Given the description of an element on the screen output the (x, y) to click on. 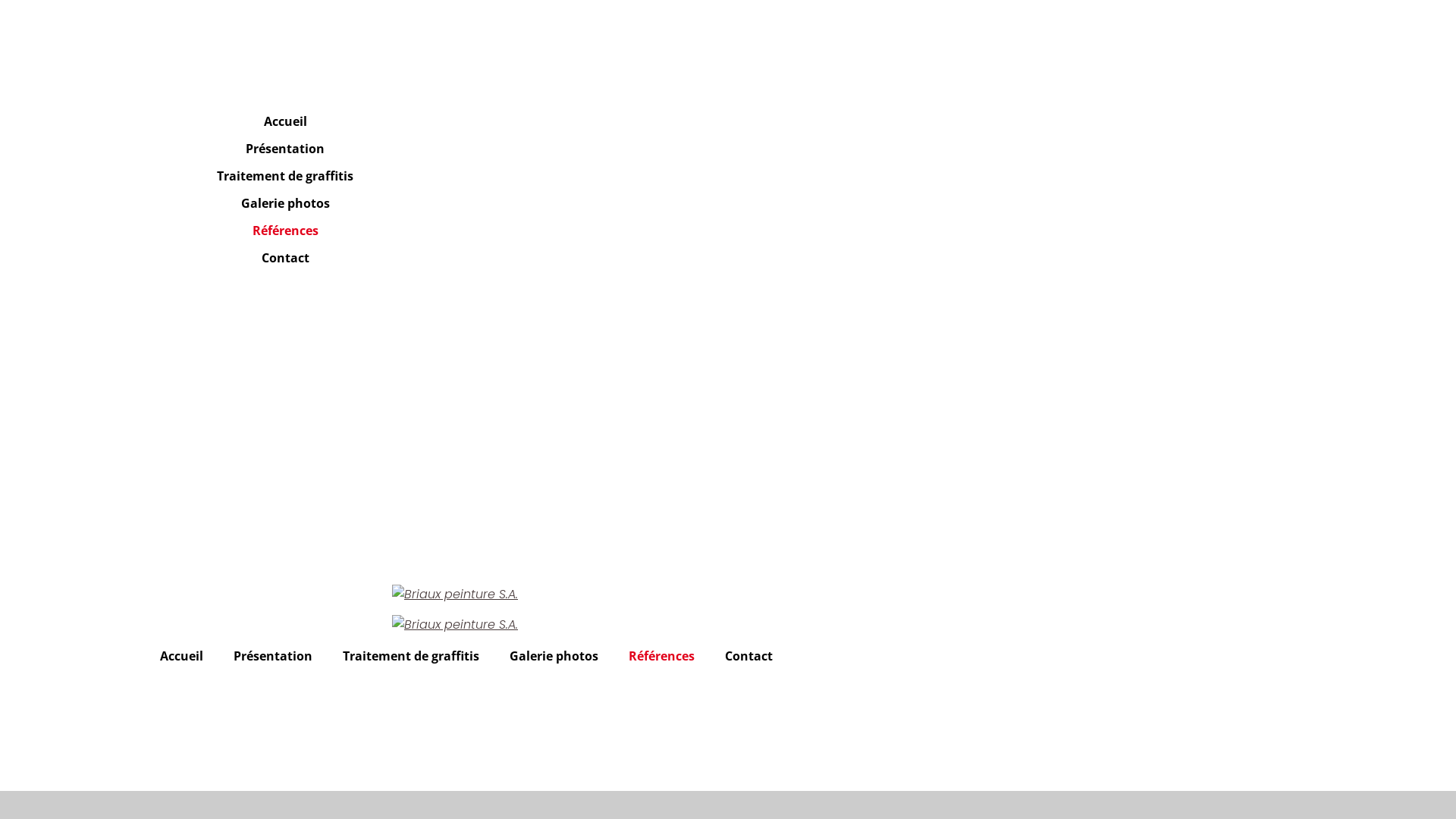
Traitement de graffitis Element type: text (410, 655)
Contact Element type: text (284, 257)
Galerie photos Element type: text (284, 202)
Contact Element type: text (748, 655)
Accueil Element type: text (181, 655)
Accueil Element type: text (284, 120)
Galerie photos Element type: text (553, 655)
Traitement de graffitis Element type: text (284, 175)
